Given the description of an element on the screen output the (x, y) to click on. 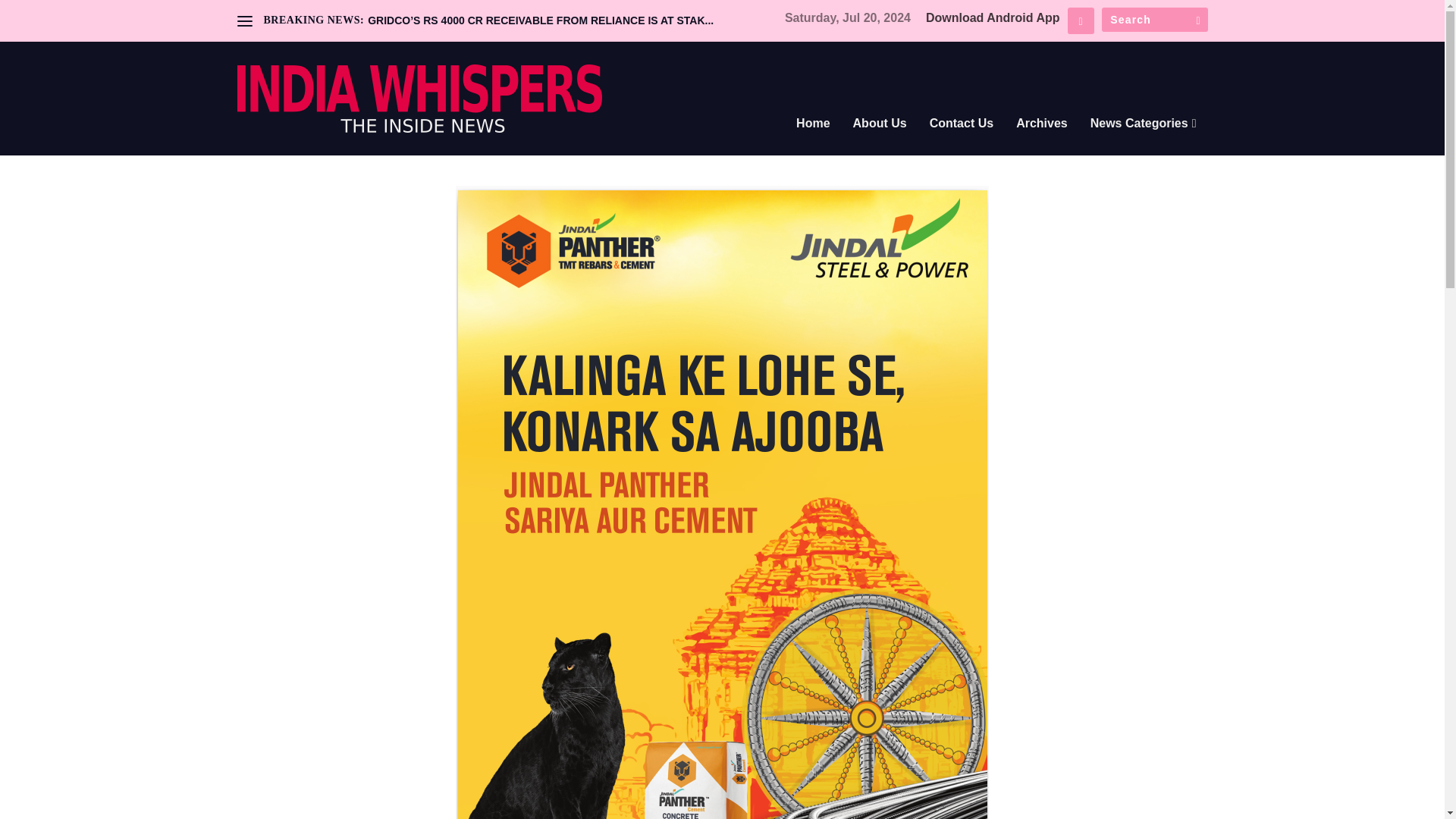
Archives (1041, 143)
Download Android App (992, 17)
News Categories (1143, 143)
Search for: (1153, 19)
Contact Us (961, 143)
About Us (880, 143)
